Given the description of an element on the screen output the (x, y) to click on. 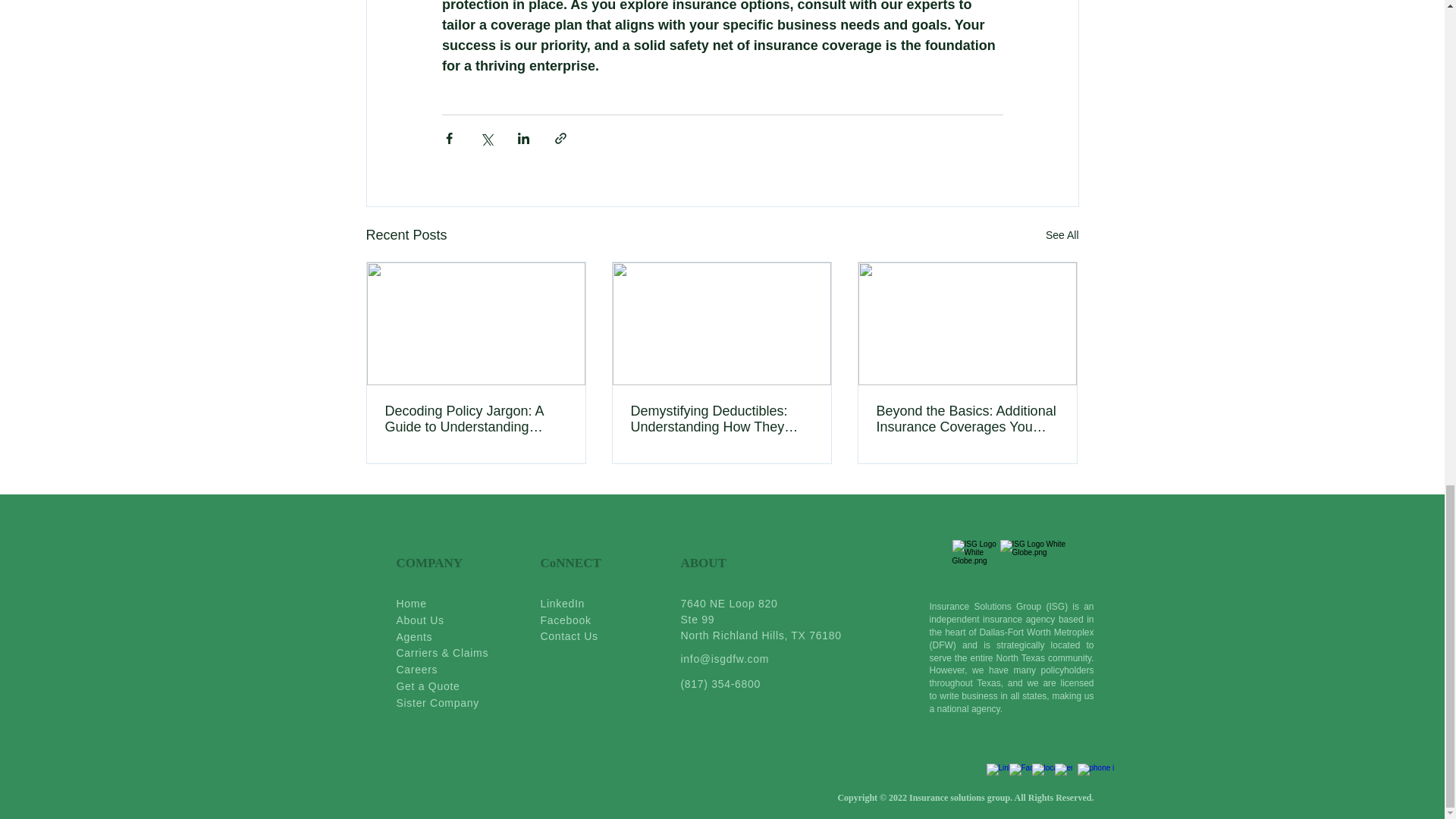
Sister Company (437, 703)
Careers (417, 669)
Agents (414, 636)
Contact Us (568, 636)
LinkedIn (562, 603)
Get a Quote (428, 686)
Home (411, 602)
See All (1061, 235)
About Us (420, 620)
Facebook (565, 620)
